Given the description of an element on the screen output the (x, y) to click on. 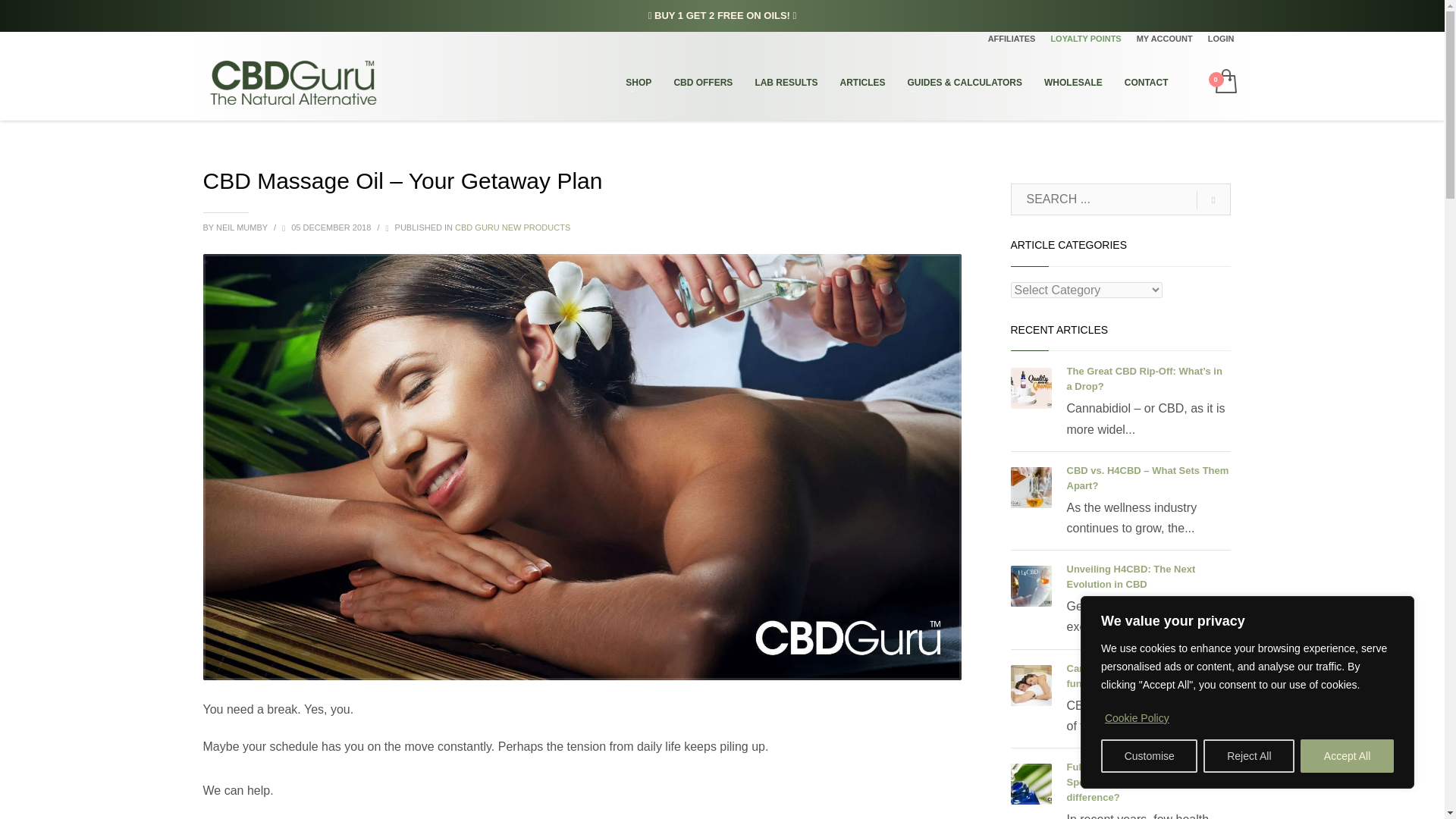
Accept All (1346, 756)
CBD OFFERS (702, 82)
Reject All (1249, 756)
View your shopping cart (1224, 82)
SHOP (638, 82)
MY ACCOUNT (1164, 38)
Cookie Policy (1136, 717)
LOGIN (1221, 38)
Customise (1148, 756)
AFFILIATES (1011, 38)
LOYALTY POINTS (1085, 38)
